Given the description of an element on the screen output the (x, y) to click on. 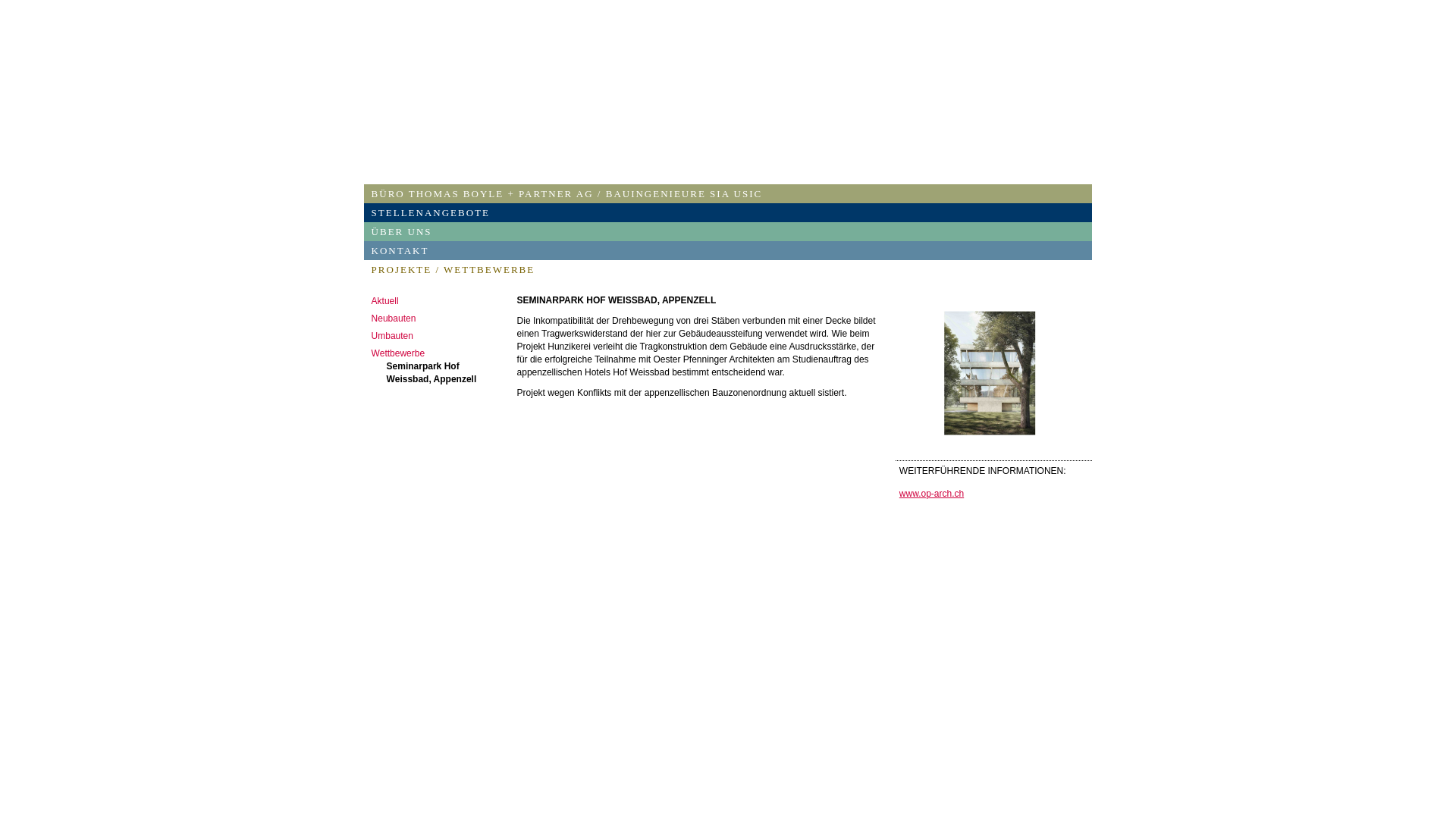
PROJEKTE / WETTBEWERBE Element type: text (728, 268)
KONTAKT Element type: text (728, 250)
Aktuell Element type: text (436, 301)
Wettbewerbe Element type: text (436, 352)
STELLENANGEBOTE Element type: text (728, 212)
Neubauten Element type: text (436, 317)
www.op-arch.ch Element type: text (931, 493)
Umbauten Element type: text (436, 336)
